Given the description of an element on the screen output the (x, y) to click on. 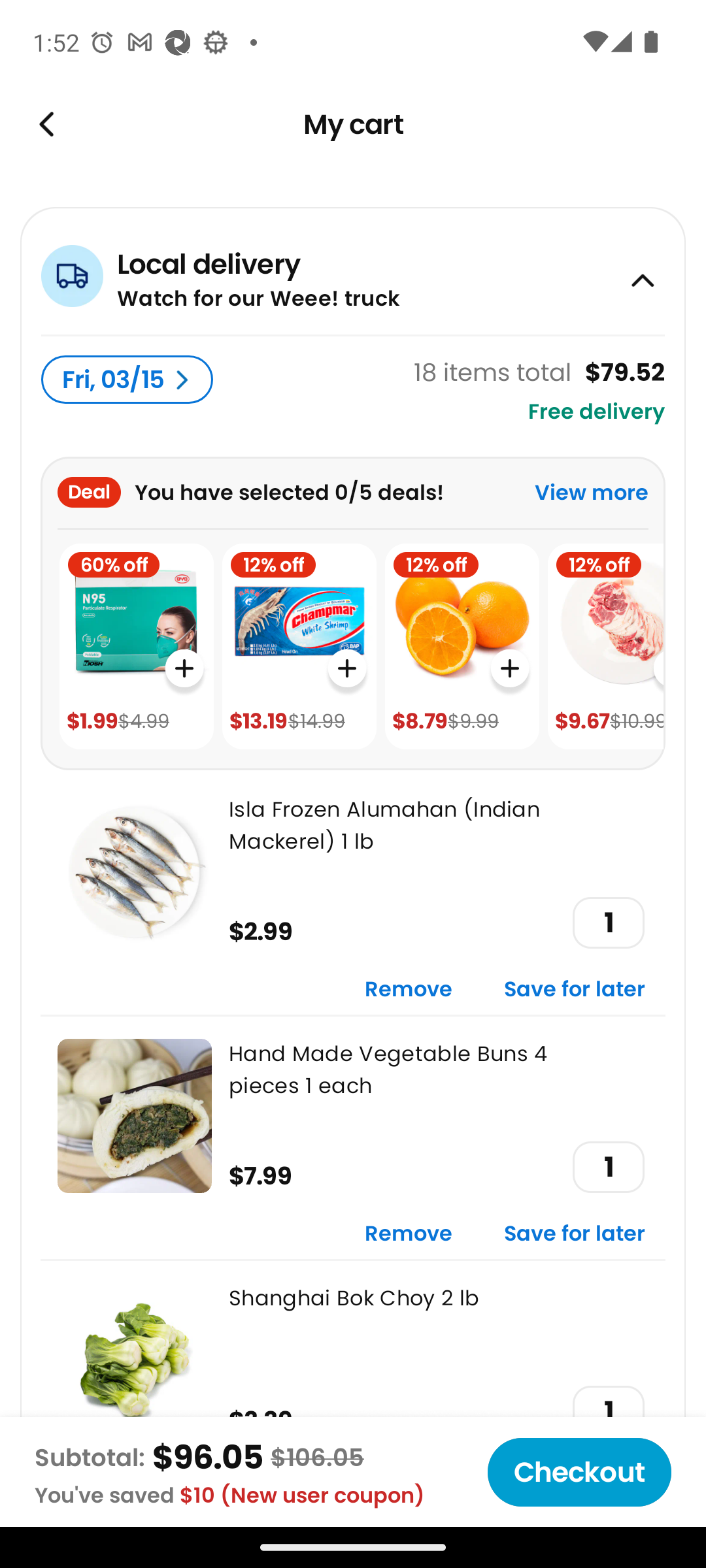
Local delivery Watch for our Weee! truck (352, 269)
Fri, 03/15 (126, 379)
60% off $1.99 $4.99 (136, 646)
12% off $13.19 $14.99 (299, 646)
12% off $8.79 $9.99 (461, 646)
12% off $9.67 $10.99 (605, 646)
1 (608, 922)
Remove (408, 989)
Save for later (574, 989)
1 (608, 1167)
Remove (408, 1234)
Save for later (574, 1234)
Checkout (579, 1471)
